Given the description of an element on the screen output the (x, y) to click on. 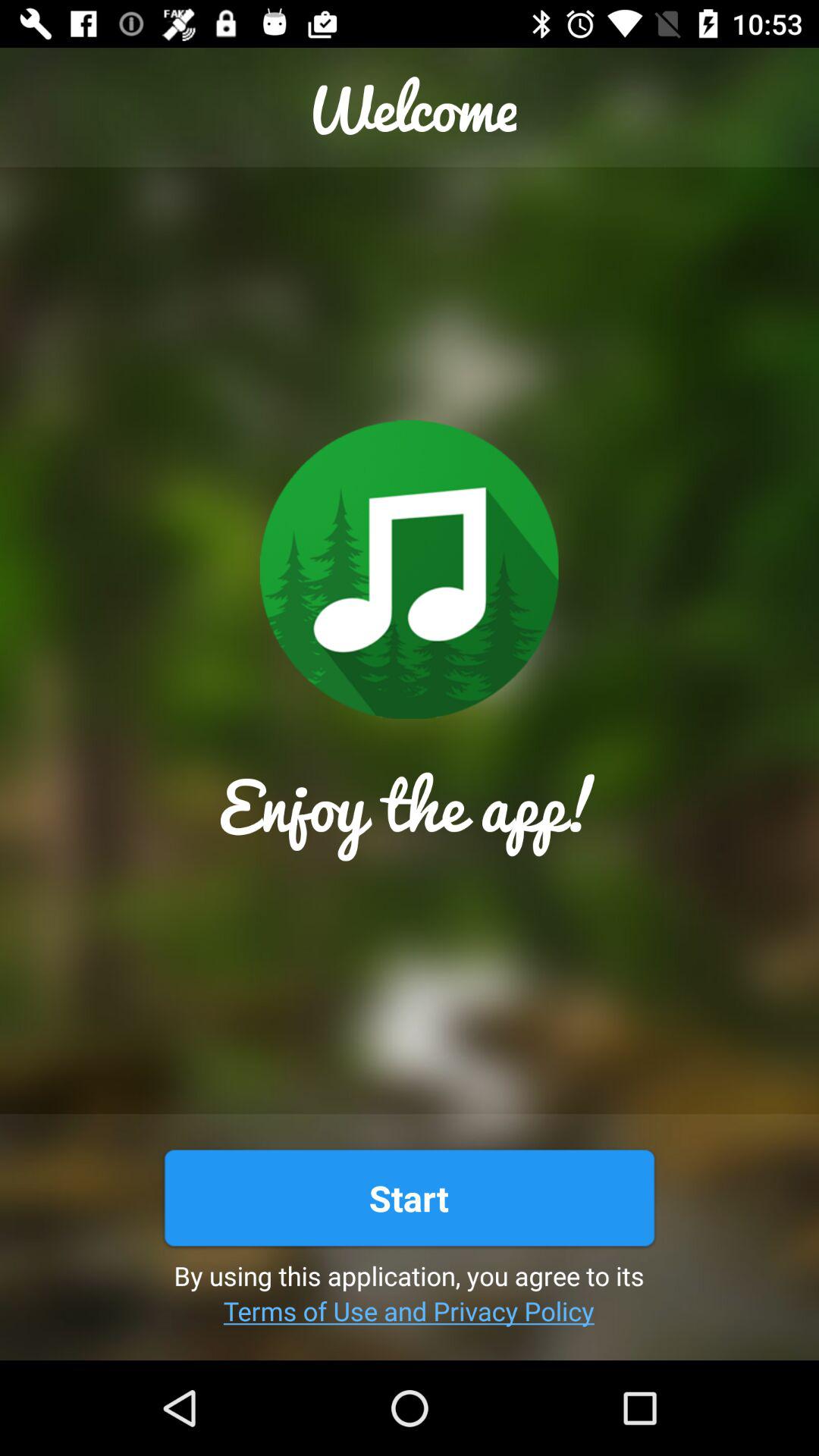
launch the start (409, 1198)
